Given the description of an element on the screen output the (x, y) to click on. 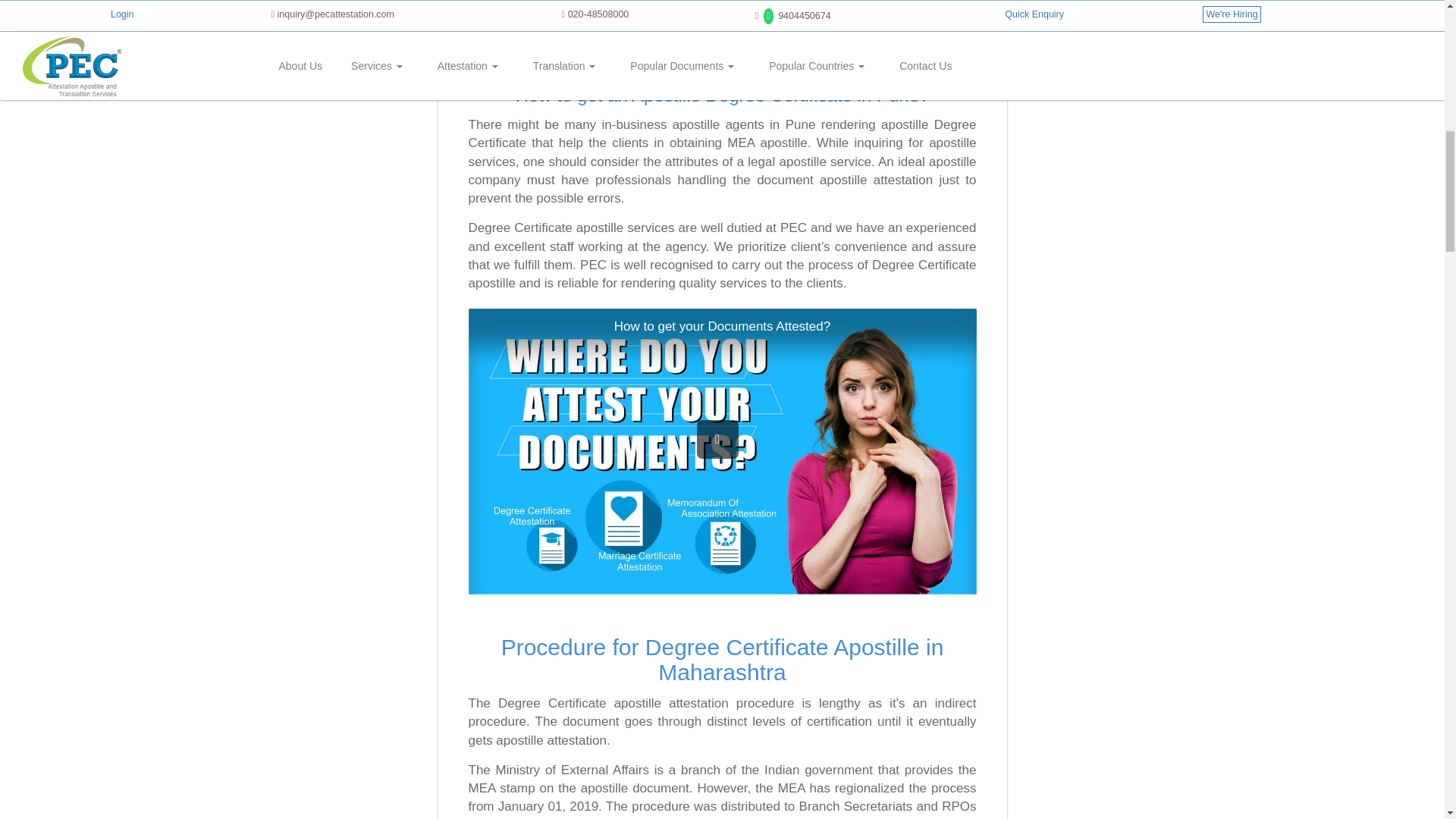
Personal Document Birth Certificate Apostille (547, 6)
Educational Degree Certificate Apostille (707, 6)
Commercial Document Power Of Attorney Apostille (867, 6)
